Given the description of an element on the screen output the (x, y) to click on. 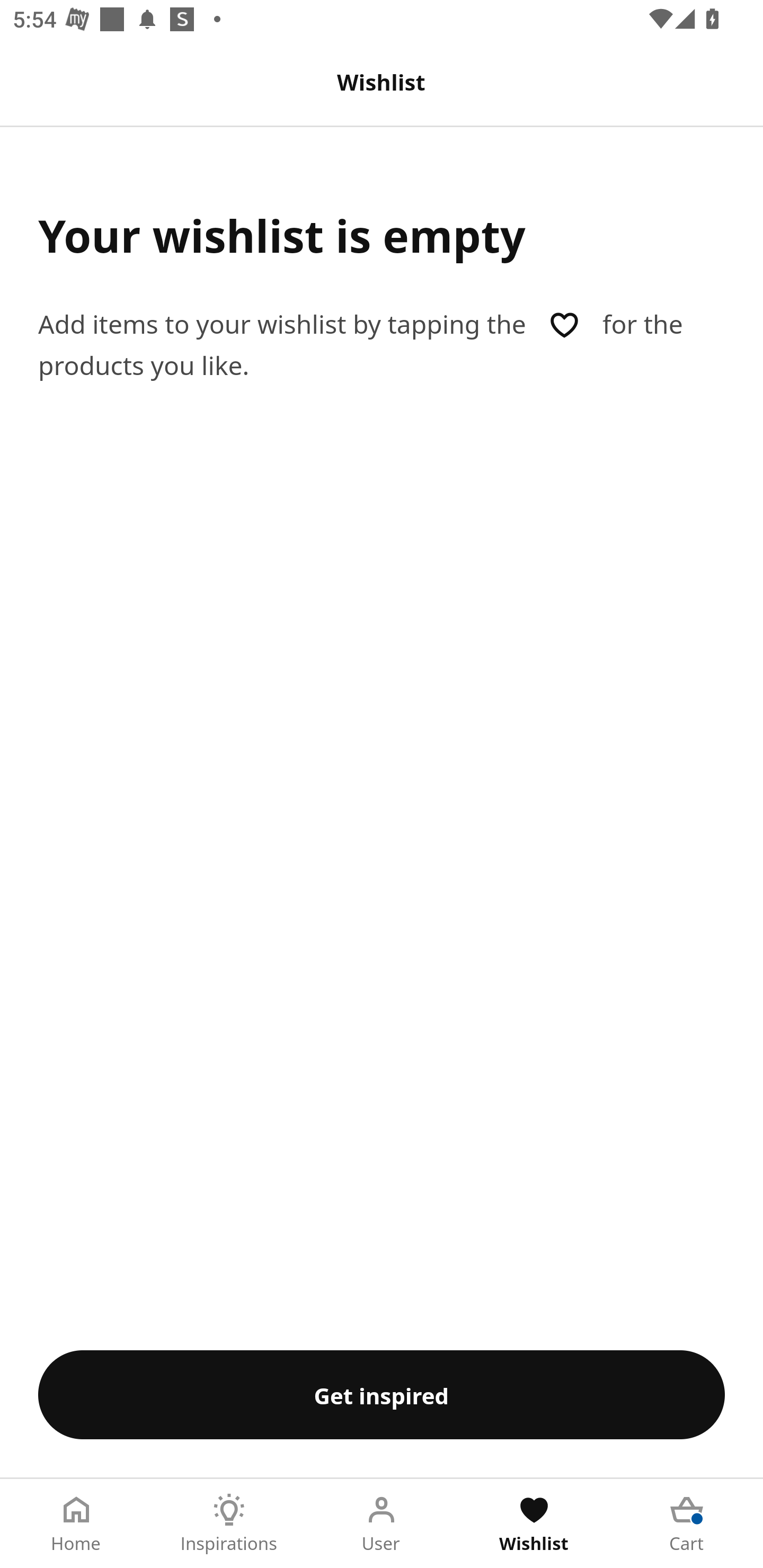
Get inspired (381, 1394)
Home
Tab 1 of 5 (76, 1522)
Inspirations
Tab 2 of 5 (228, 1522)
User
Tab 3 of 5 (381, 1522)
Wishlist
Tab 4 of 5 (533, 1522)
Cart
Tab 5 of 5 (686, 1522)
